Given the description of an element on the screen output the (x, y) to click on. 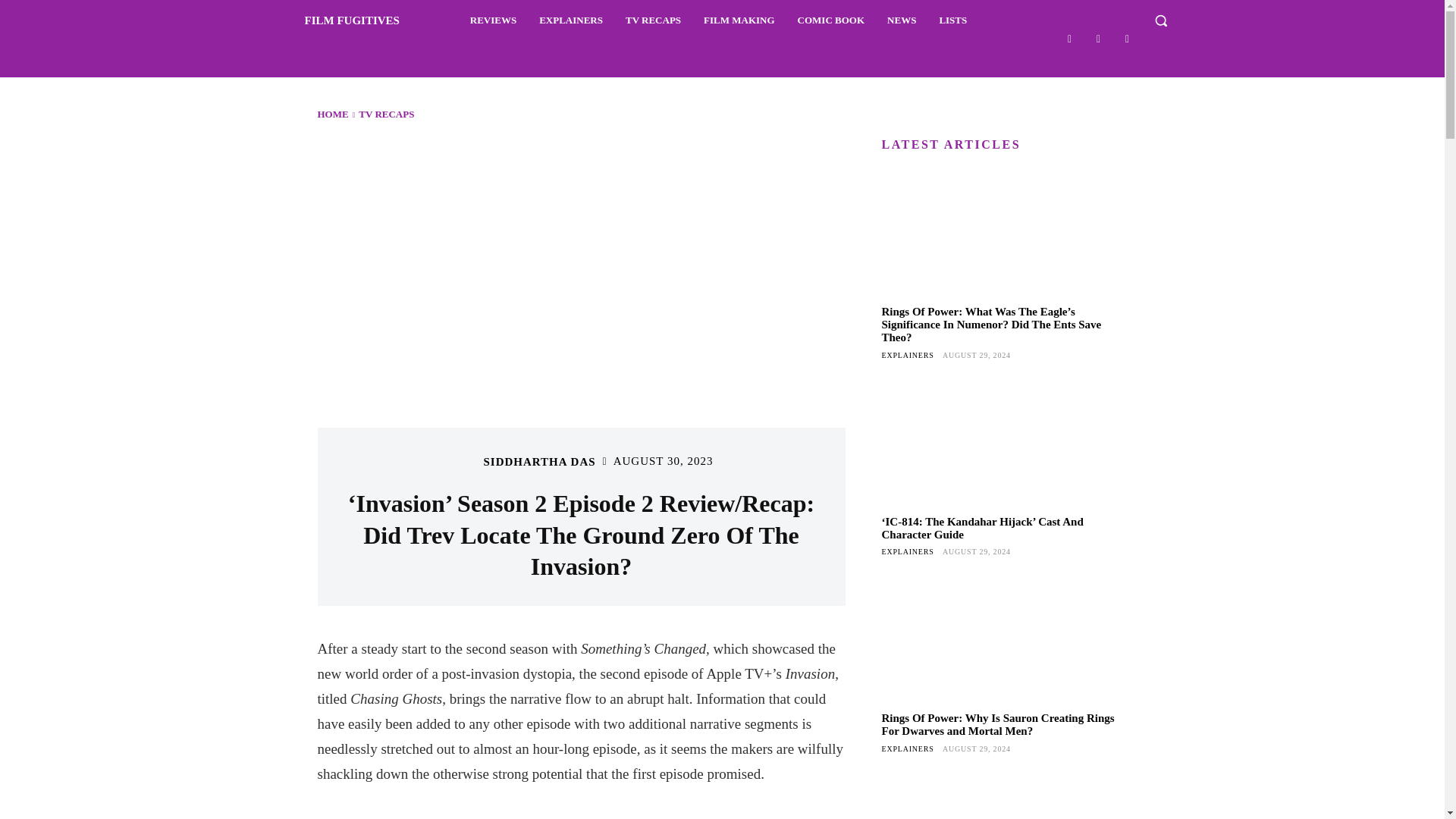
HOME (332, 113)
Film Fugitives (333, 20)
SIDDHARTHA DAS (539, 461)
EXPLAINERS (570, 20)
LISTS (952, 20)
TV RECAPS (385, 113)
NEWS (901, 20)
Facebook (1069, 38)
TV RECAPS (652, 20)
COMIC BOOK (831, 20)
